Given the description of an element on the screen output the (x, y) to click on. 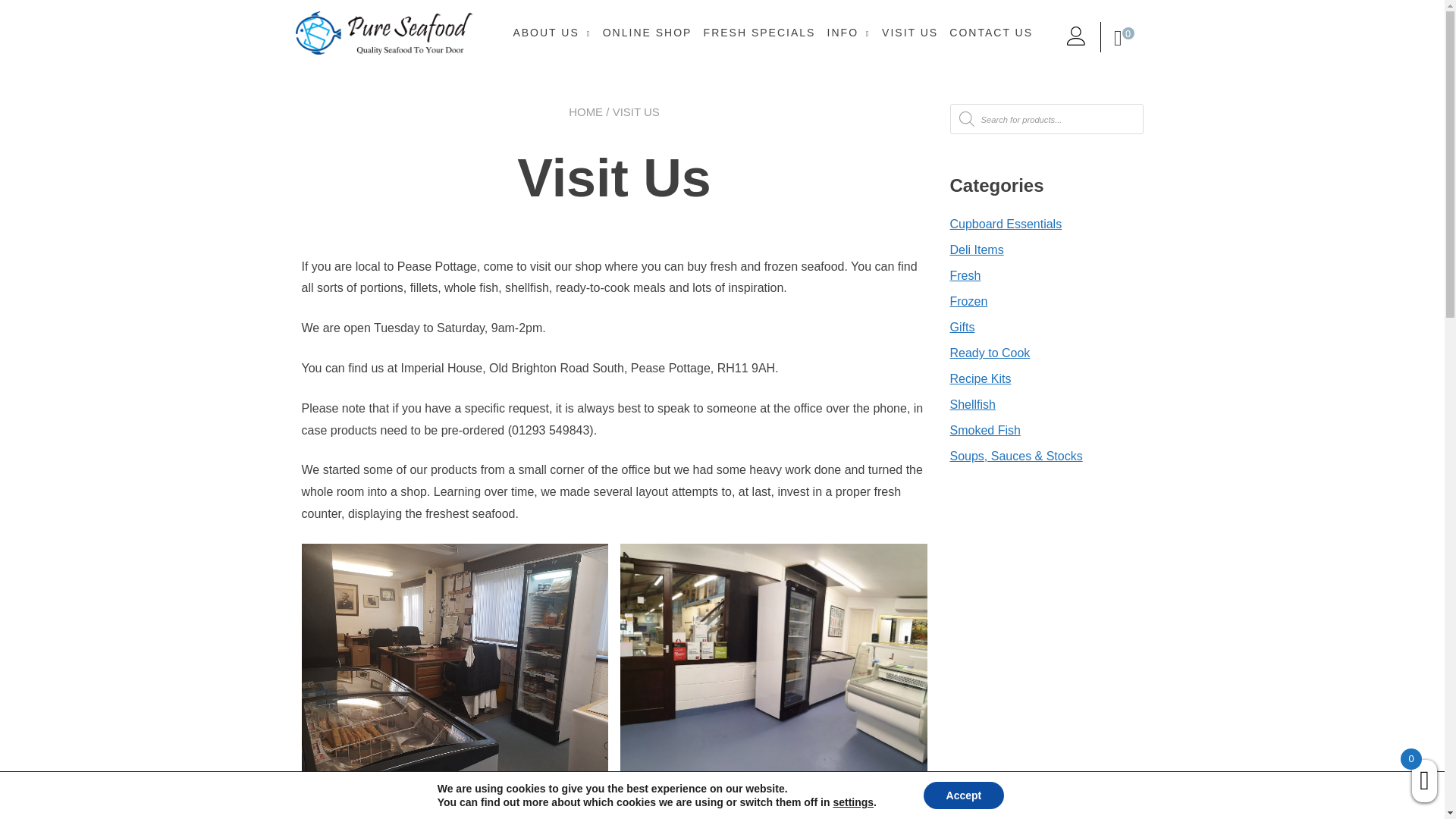
VISIT US (909, 32)
HOME (585, 111)
ONLINE SHOP (647, 32)
Shellfish (971, 404)
0 (1130, 38)
Smoked Fish (984, 430)
Recipe Kits (979, 378)
Frozen (968, 300)
CONTACT US (990, 32)
Fresh (964, 275)
Cupboard Essentials (1005, 223)
INFO (848, 32)
Ready to Cook (989, 352)
Deli Items (976, 249)
Gifts (961, 327)
